Given the description of an element on the screen output the (x, y) to click on. 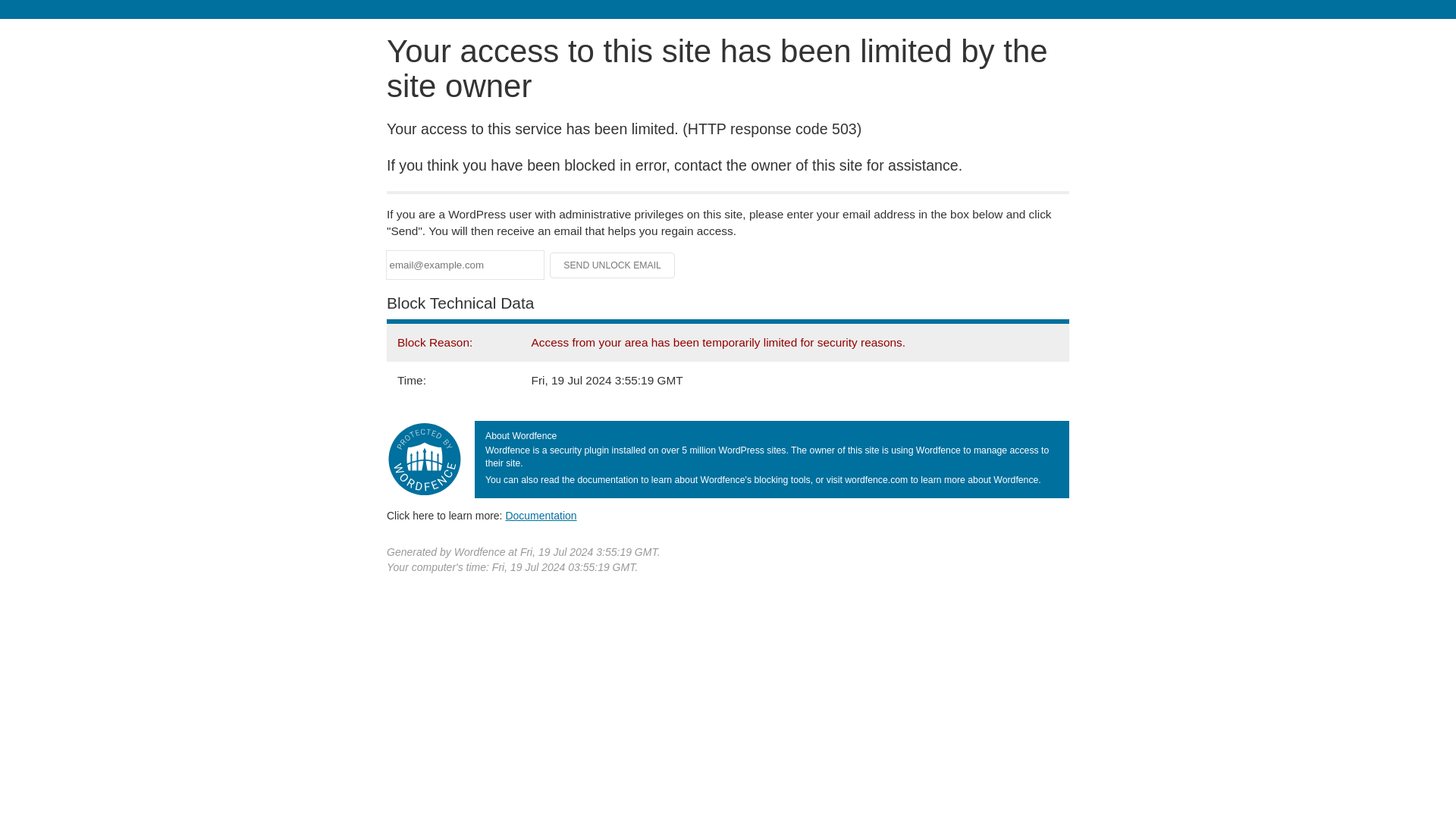
Send Unlock Email (612, 265)
Send Unlock Email (612, 265)
Documentation (540, 515)
